Given the description of an element on the screen output the (x, y) to click on. 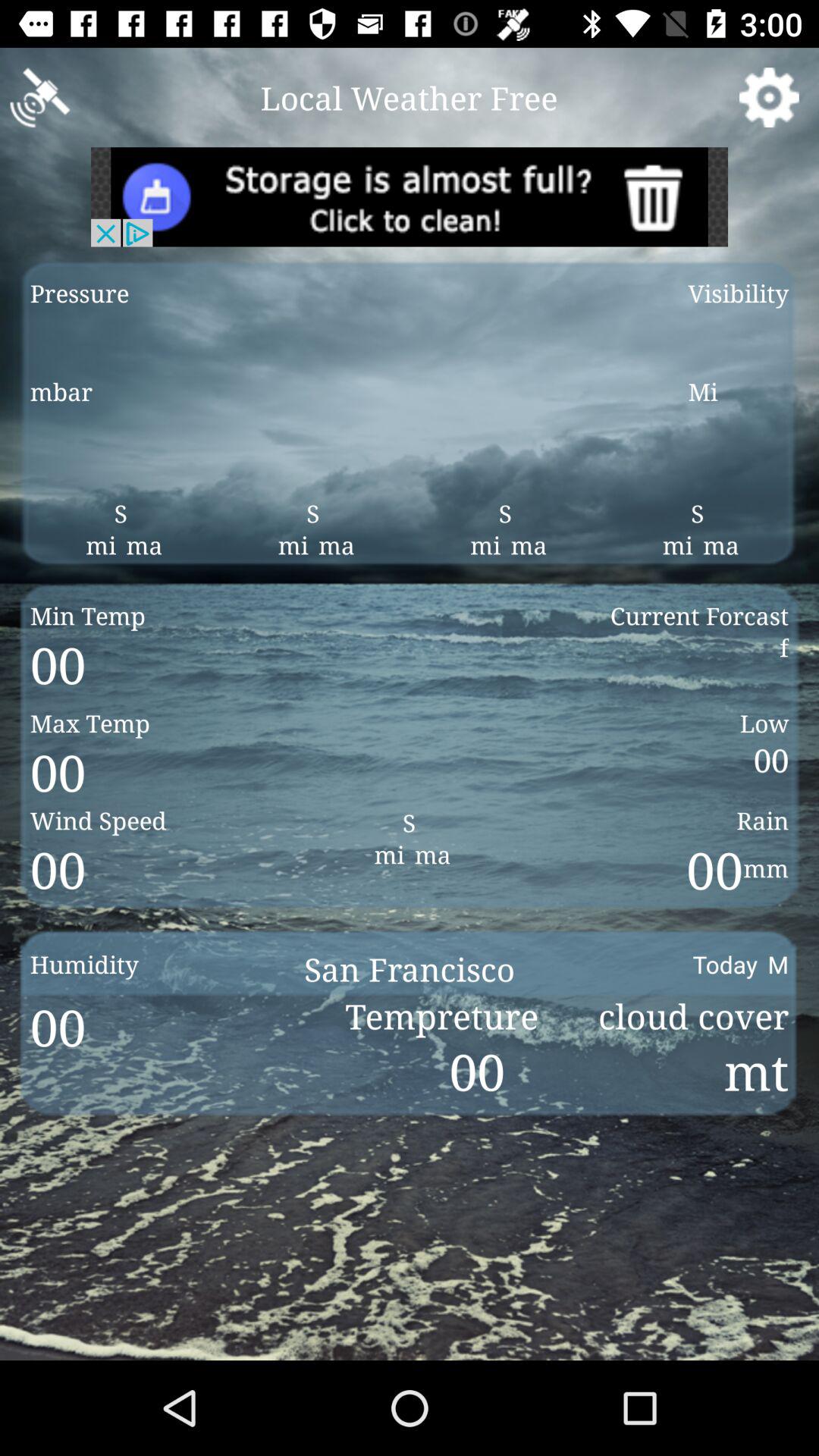
press item below the local weather free icon (409, 196)
